Given the description of an element on the screen output the (x, y) to click on. 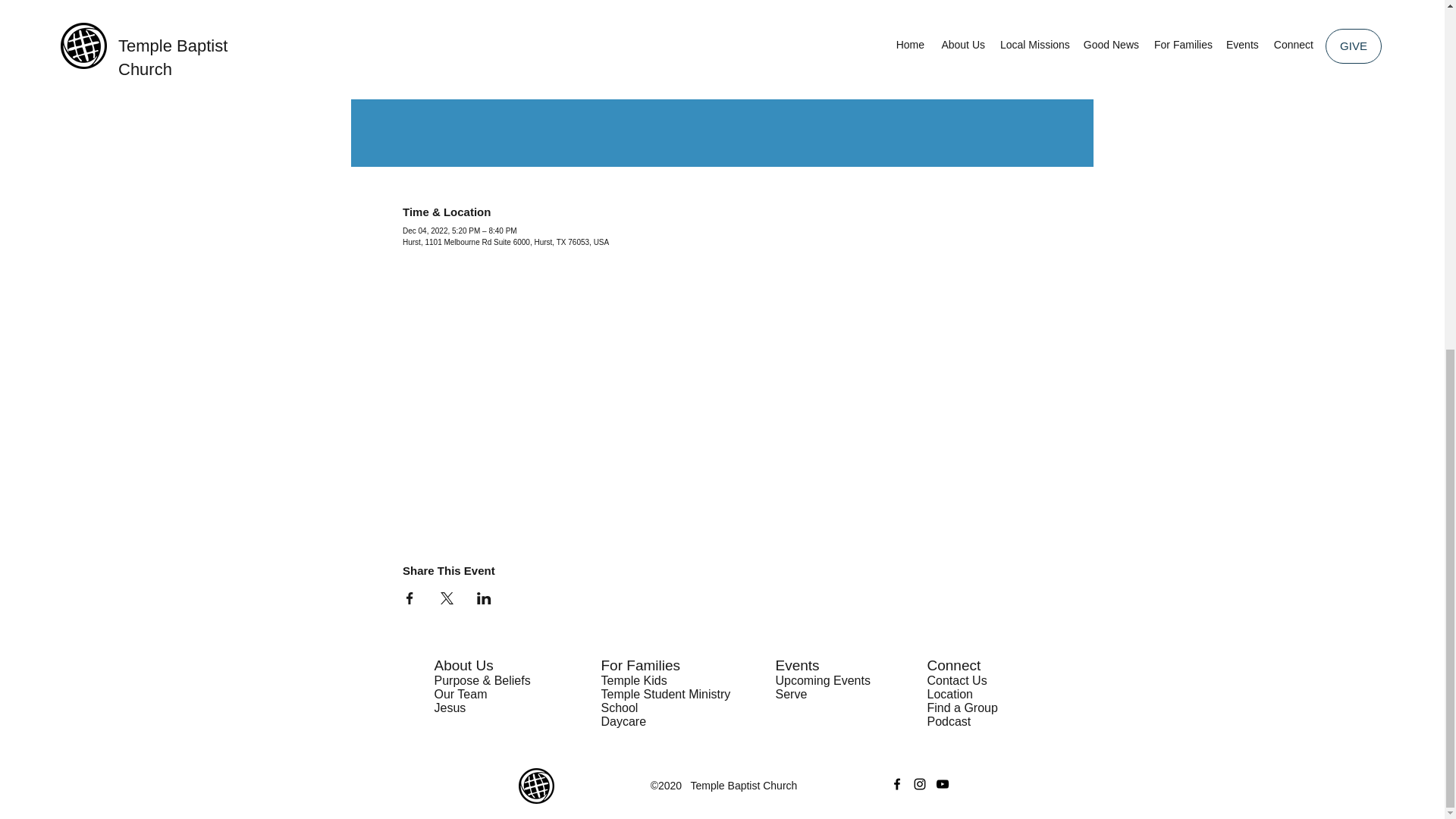
Temple Student Ministry (664, 694)
Contact Us (956, 680)
Serve (790, 694)
Our Team (459, 694)
Daycare (622, 721)
Upcoming Events (821, 680)
Podcast (948, 721)
School (618, 707)
Temple Kids (632, 680)
Location (949, 694)
